Given the description of an element on the screen output the (x, y) to click on. 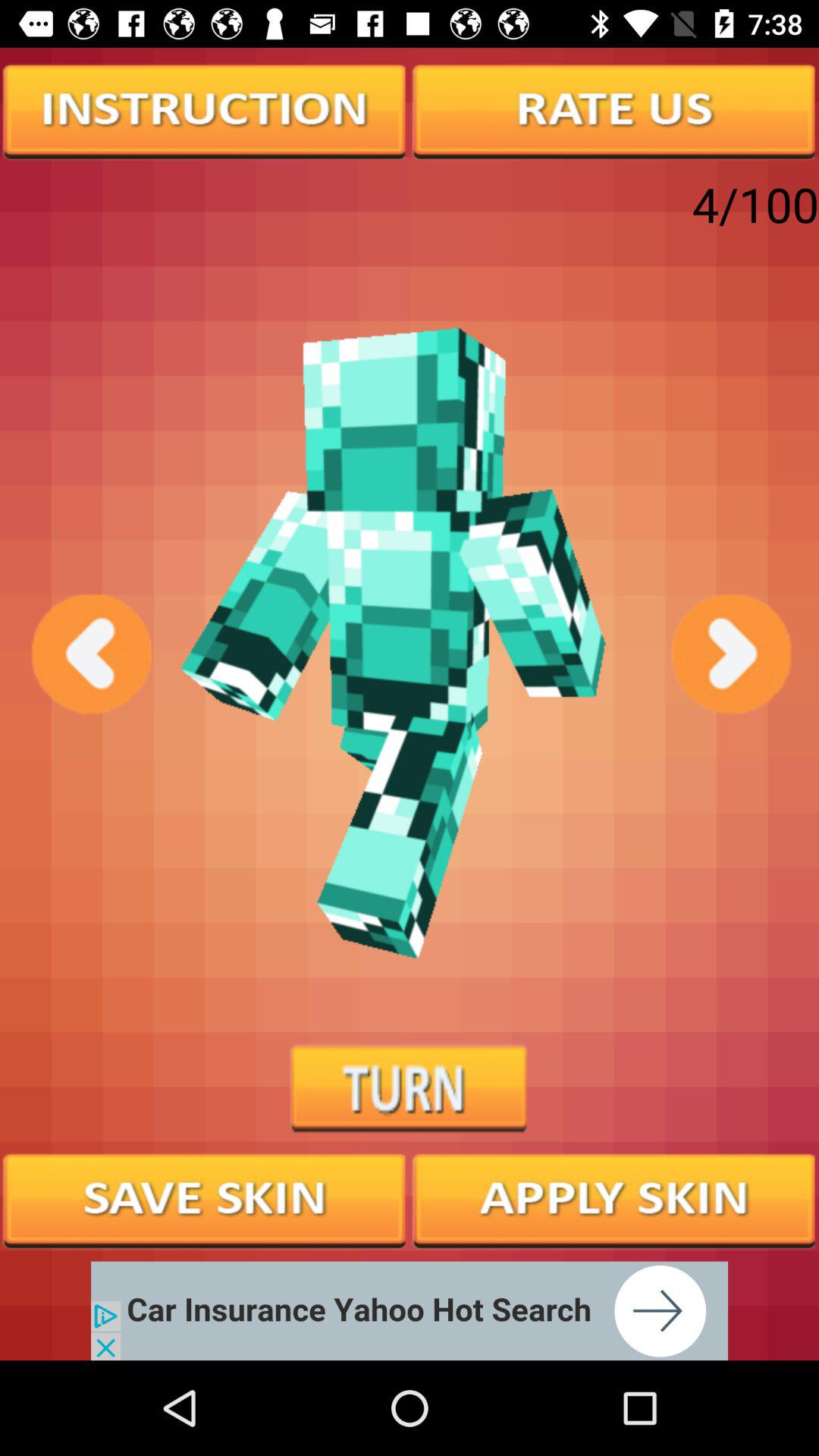
turn button (409, 1088)
